Given the description of an element on the screen output the (x, y) to click on. 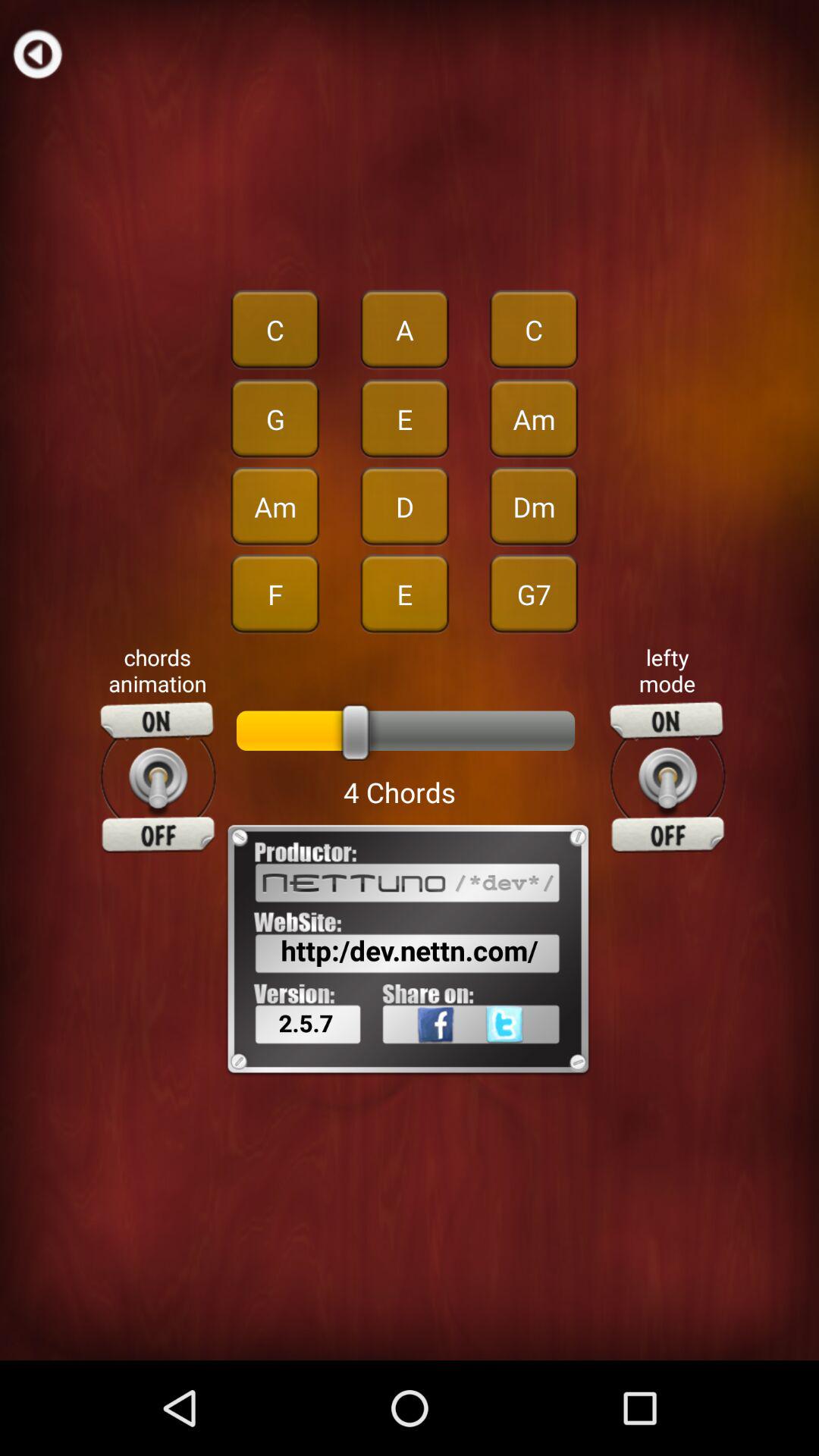
click on the letter g (275, 418)
